Given the description of an element on the screen output the (x, y) to click on. 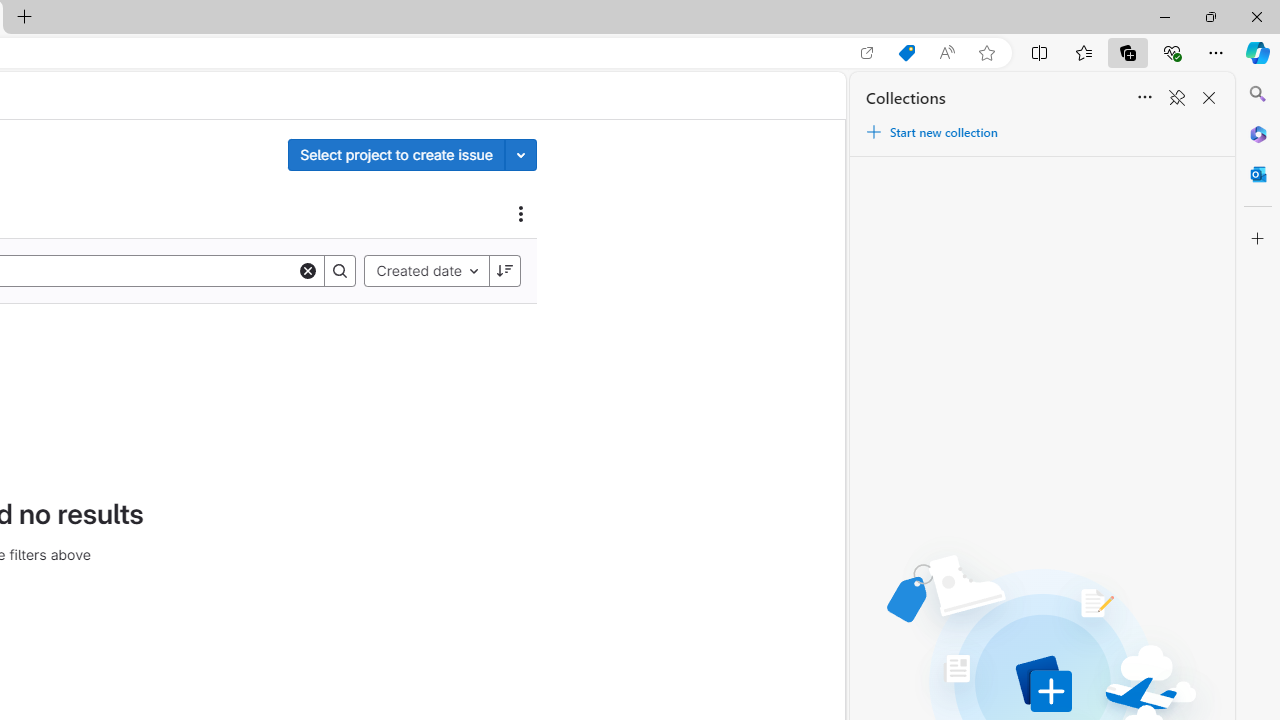
Open in app (867, 53)
Created date (426, 270)
Sort direction: Descending (504, 270)
Sort (1144, 98)
Actions (521, 213)
